Given the description of an element on the screen output the (x, y) to click on. 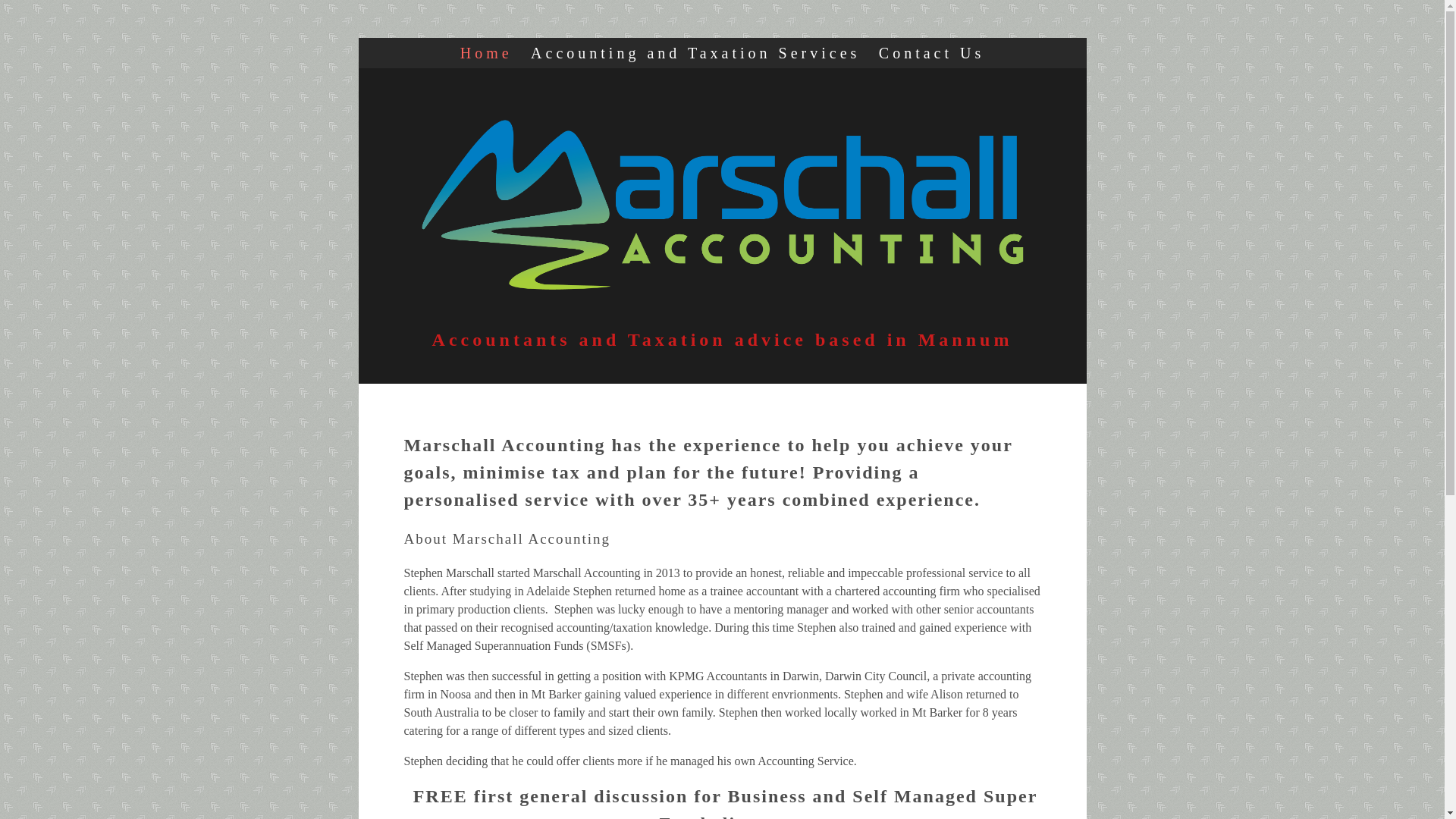
Accounting and Taxation Services Element type: text (694, 52)
Home Element type: text (486, 52)
Contact Us Element type: text (931, 52)
